Given the description of an element on the screen output the (x, y) to click on. 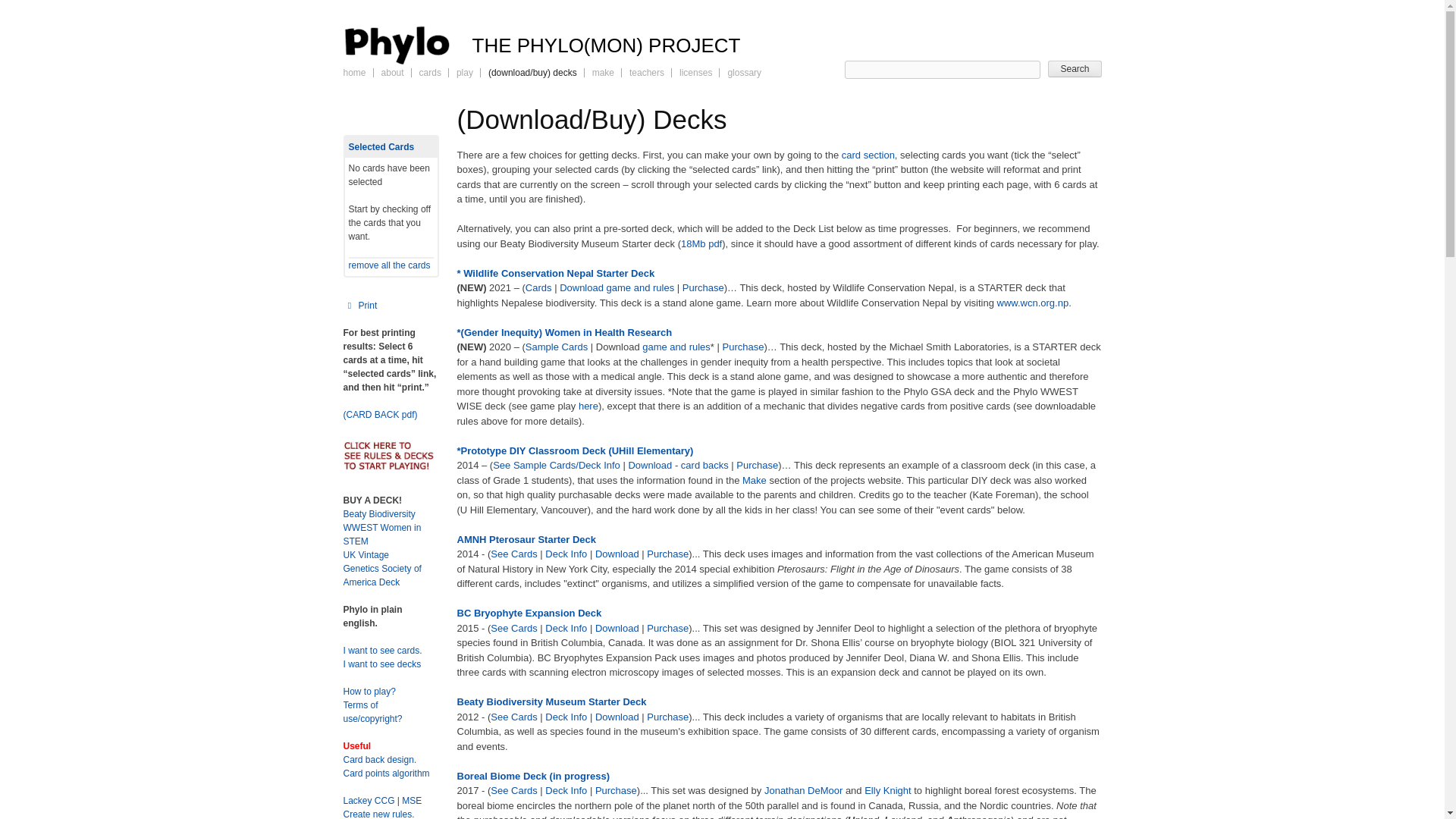
home (353, 71)
Sample Cards (556, 346)
game and rules (676, 346)
teachers (645, 71)
See Cards (513, 553)
Search (1074, 68)
Download game and rules (616, 287)
card backs (705, 464)
play (465, 71)
BC Bryophyte Expansion Deck (529, 613)
Search (1074, 68)
Purchase (667, 553)
Deck Info (565, 627)
licenses (695, 71)
about (392, 71)
